Given the description of an element on the screen output the (x, y) to click on. 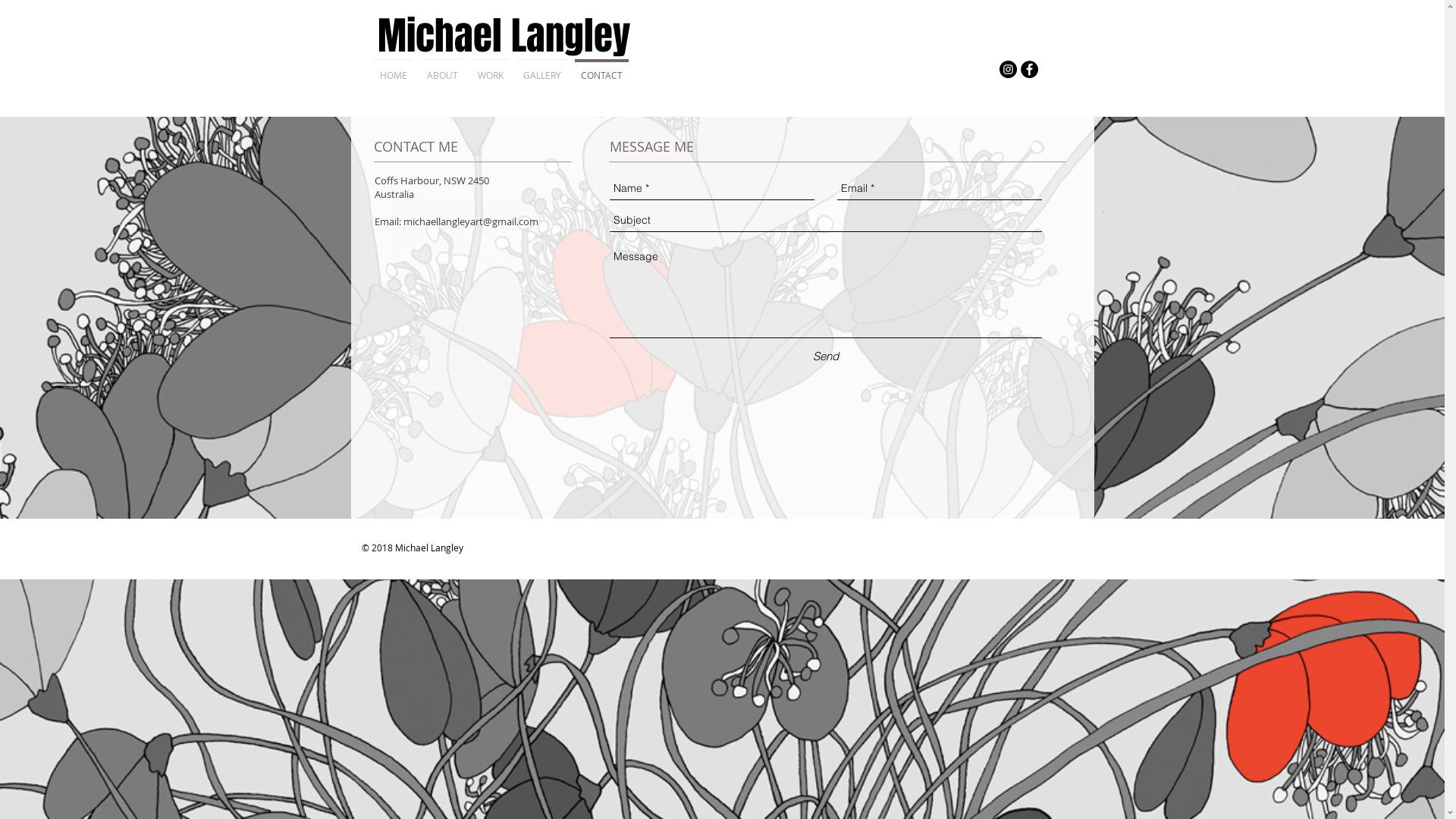
WORK Element type: text (489, 68)
GALLERY Element type: text (541, 68)
michaellangleyart@gmail.com Element type: text (470, 221)
Send Element type: text (825, 356)
HOME Element type: text (393, 68)
ABOUT Element type: text (442, 68)
CONTACT Element type: text (600, 68)
